Given the description of an element on the screen output the (x, y) to click on. 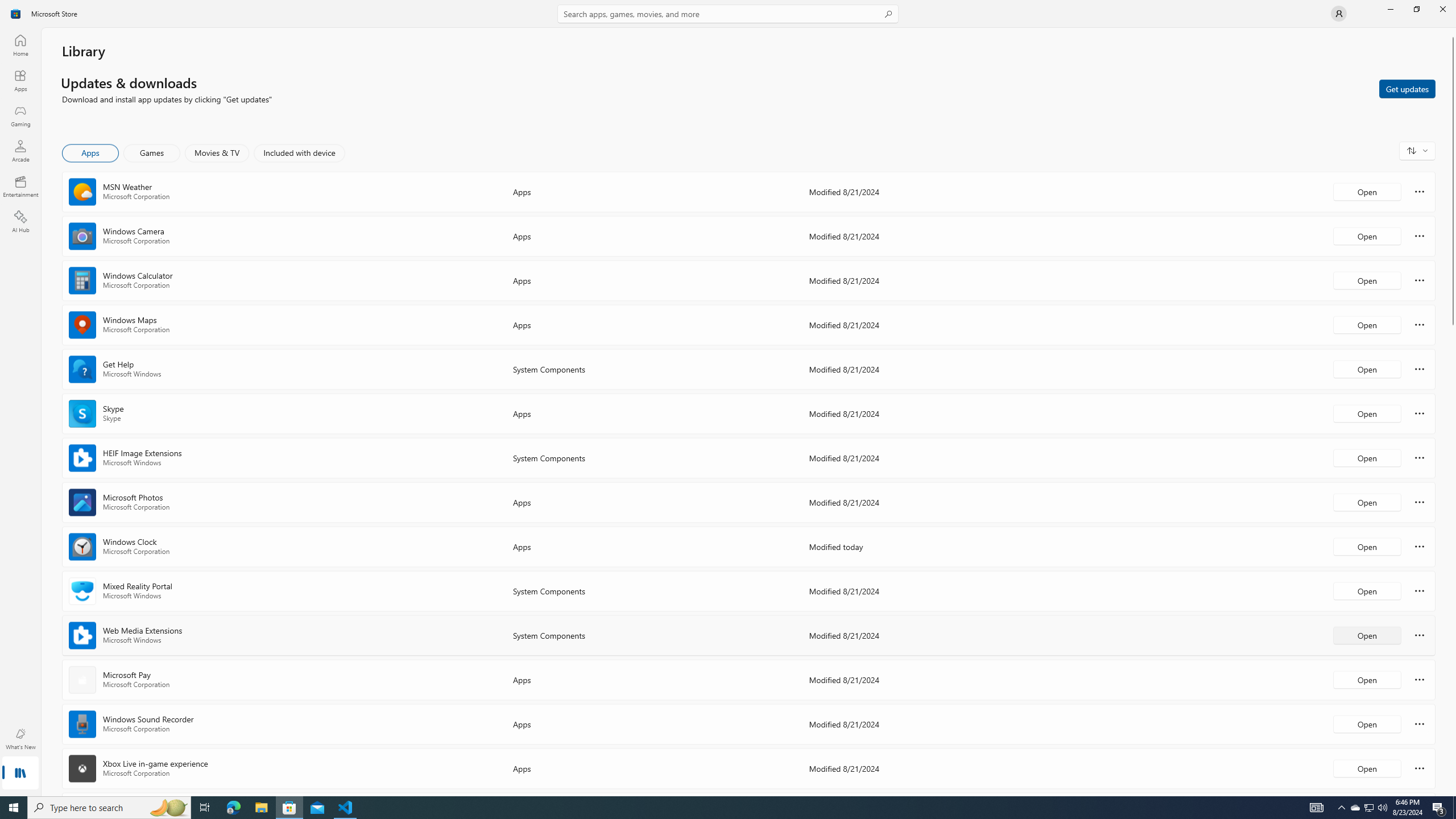
Vertical Large Increase (1452, 557)
More options (1419, 768)
Open (1366, 768)
Sort and filter (1417, 149)
Included with device (299, 153)
Vertical Small Increase (1452, 792)
Movies & TV (216, 153)
Get updates (1406, 88)
